Given the description of an element on the screen output the (x, y) to click on. 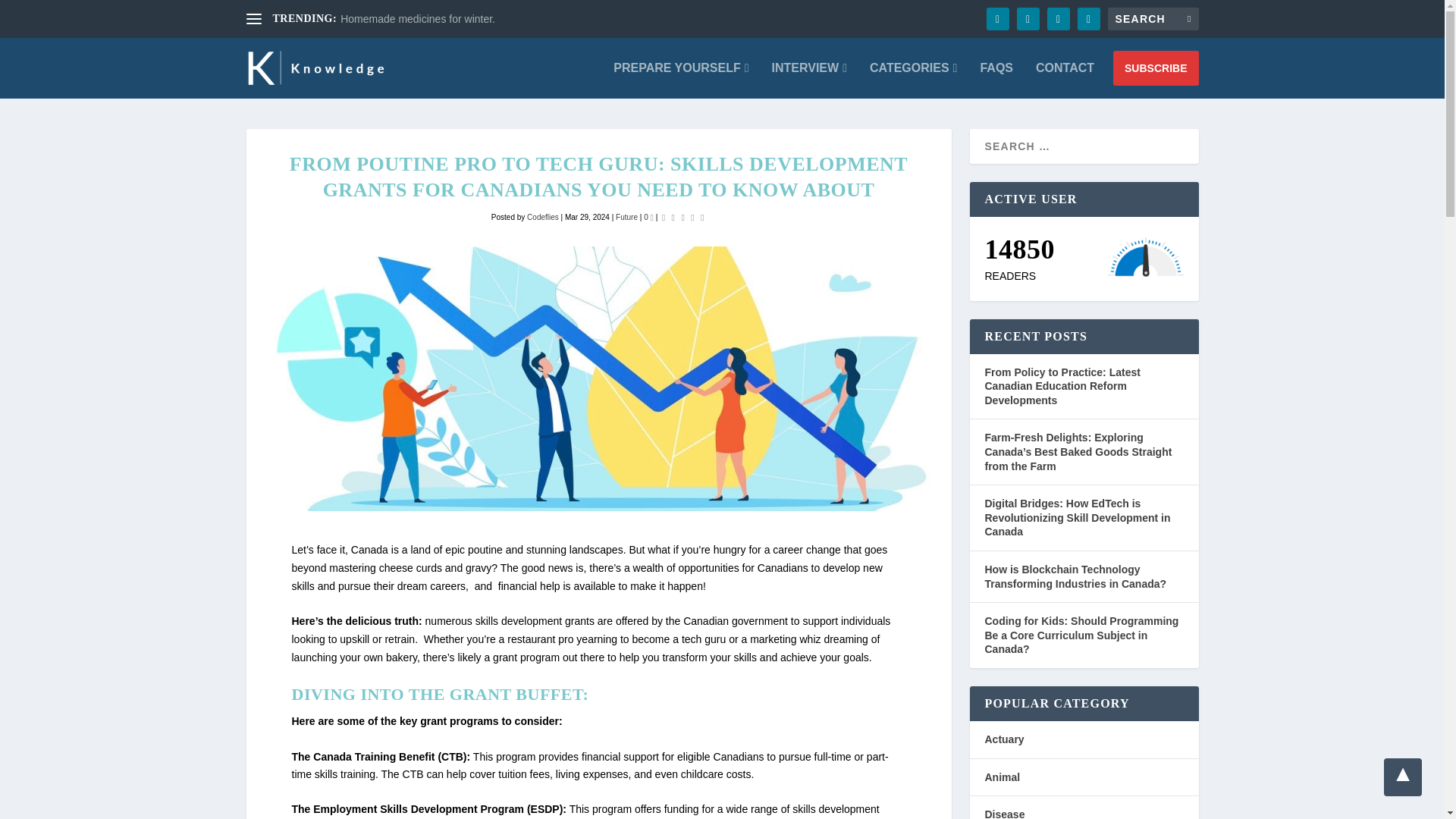
Search for: (1152, 18)
FAQS (996, 80)
Homemade medicines for winter. (417, 19)
Rating: 0.00 (682, 216)
comment count (650, 217)
PREPARE YOURSELF (680, 80)
Posts by Codeflies (543, 216)
Future (626, 216)
INTERVIEW (809, 80)
CONTACT (1064, 80)
CATEGORIES (912, 80)
Codeflies (543, 216)
SUBSCRIBE (1155, 67)
0 (648, 216)
